Given the description of an element on the screen output the (x, y) to click on. 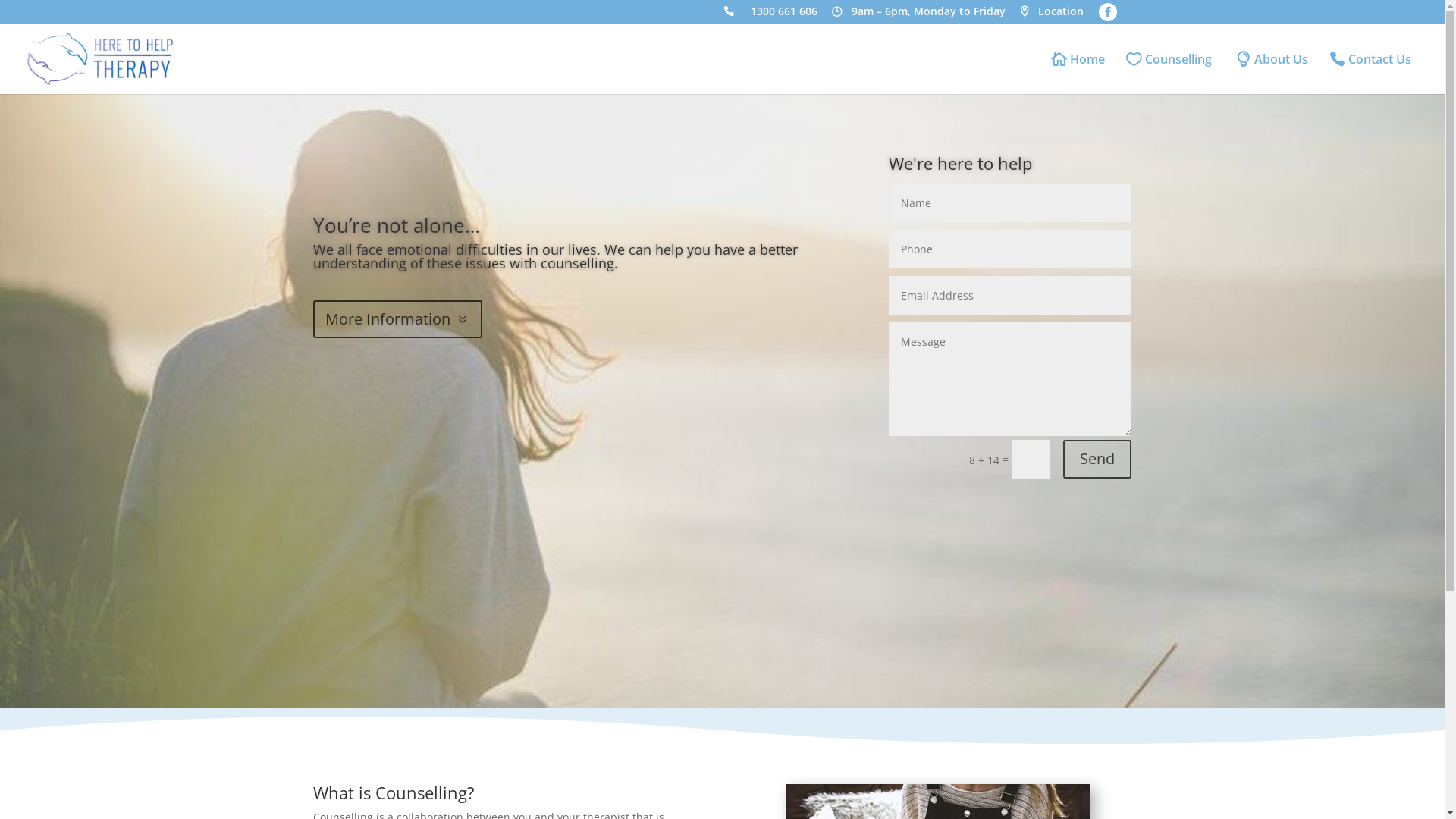
Send Element type: text (1097, 458)
About Us Element type: text (1272, 73)
1300 661 606 Element type: text (770, 15)
Location Element type: text (1051, 15)
More Information Element type: text (396, 319)
Counselling Element type: text (1170, 73)
Home Element type: text (1078, 73)
Contact Us Element type: text (1374, 73)
